Given the description of an element on the screen output the (x, y) to click on. 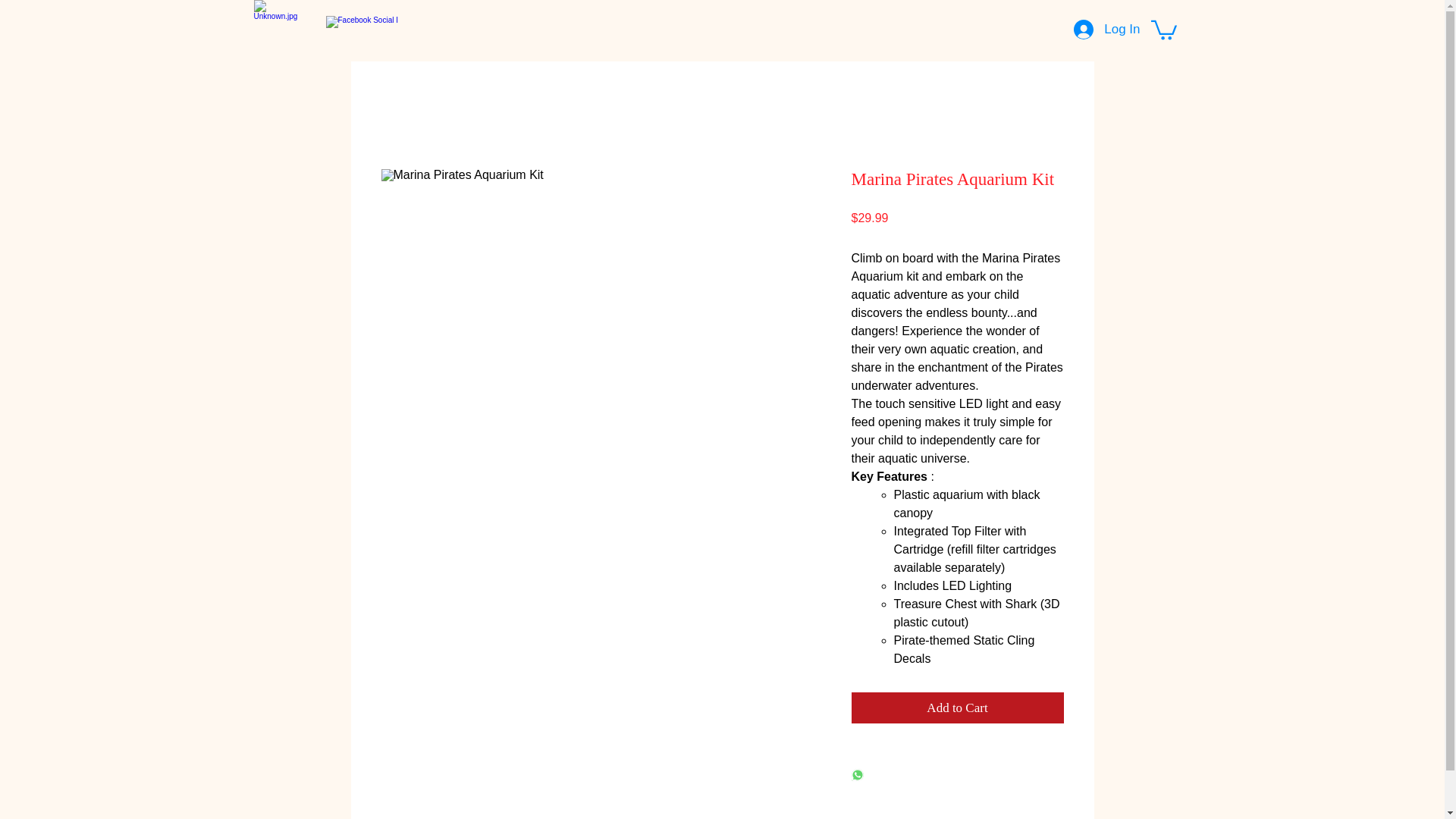
Log In (1106, 29)
Add to Cart (956, 707)
